Given the description of an element on the screen output the (x, y) to click on. 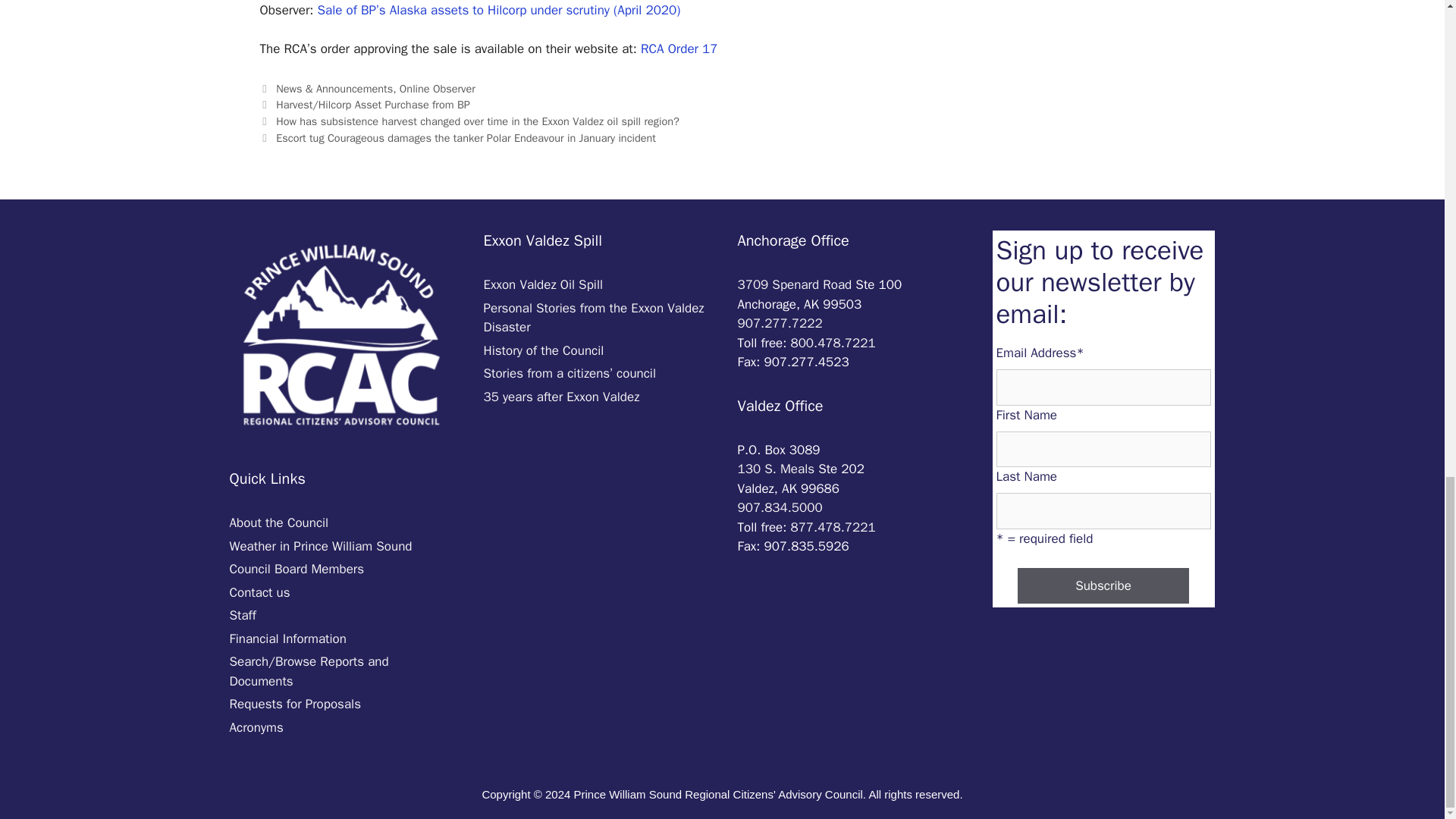
Scroll back to top (1406, 387)
Subscribe (1103, 586)
